Given the description of an element on the screen output the (x, y) to click on. 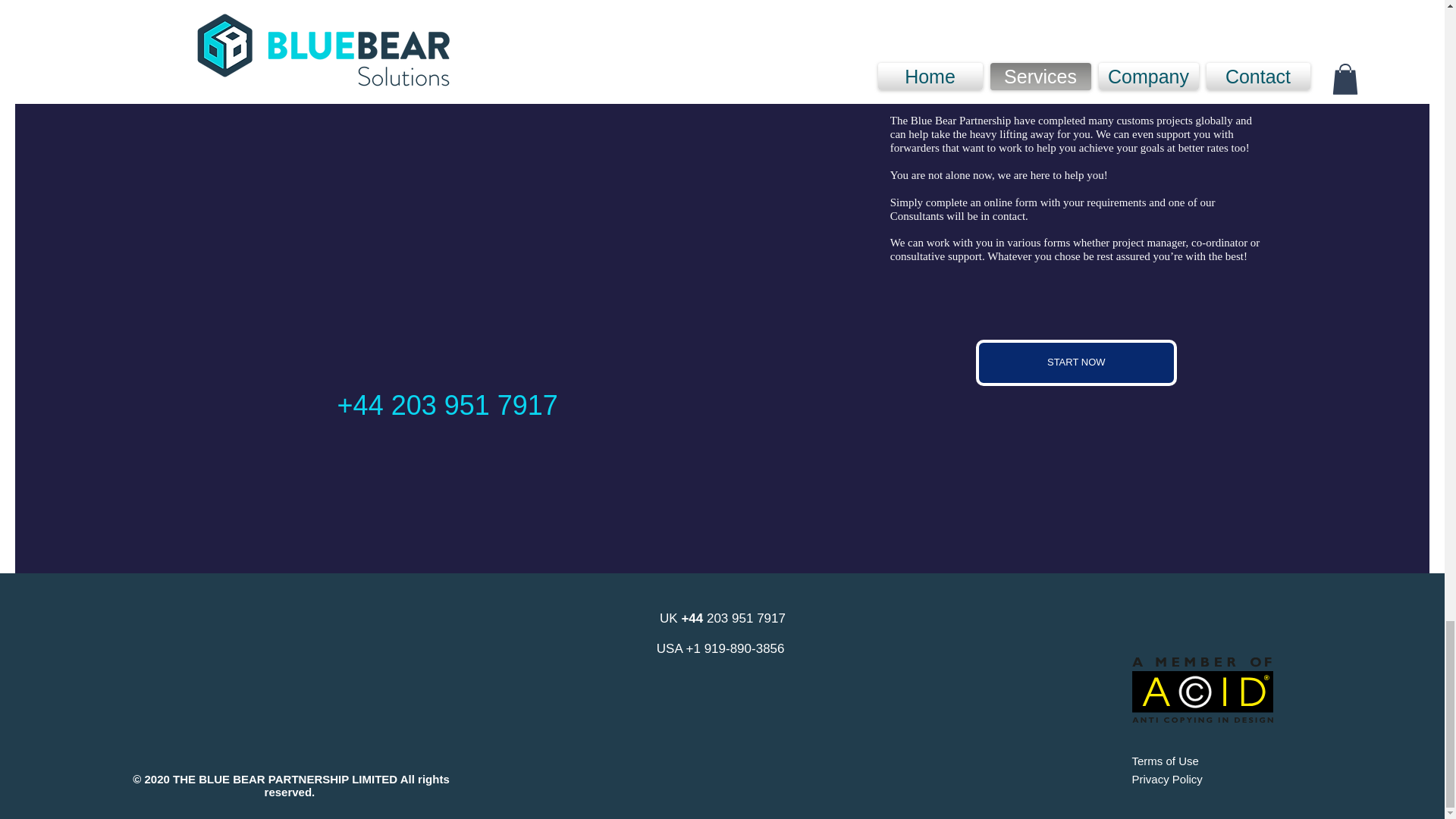
START NOW (1075, 362)
Terms of Use (1164, 760)
Privacy Policy (1166, 779)
